Given the description of an element on the screen output the (x, y) to click on. 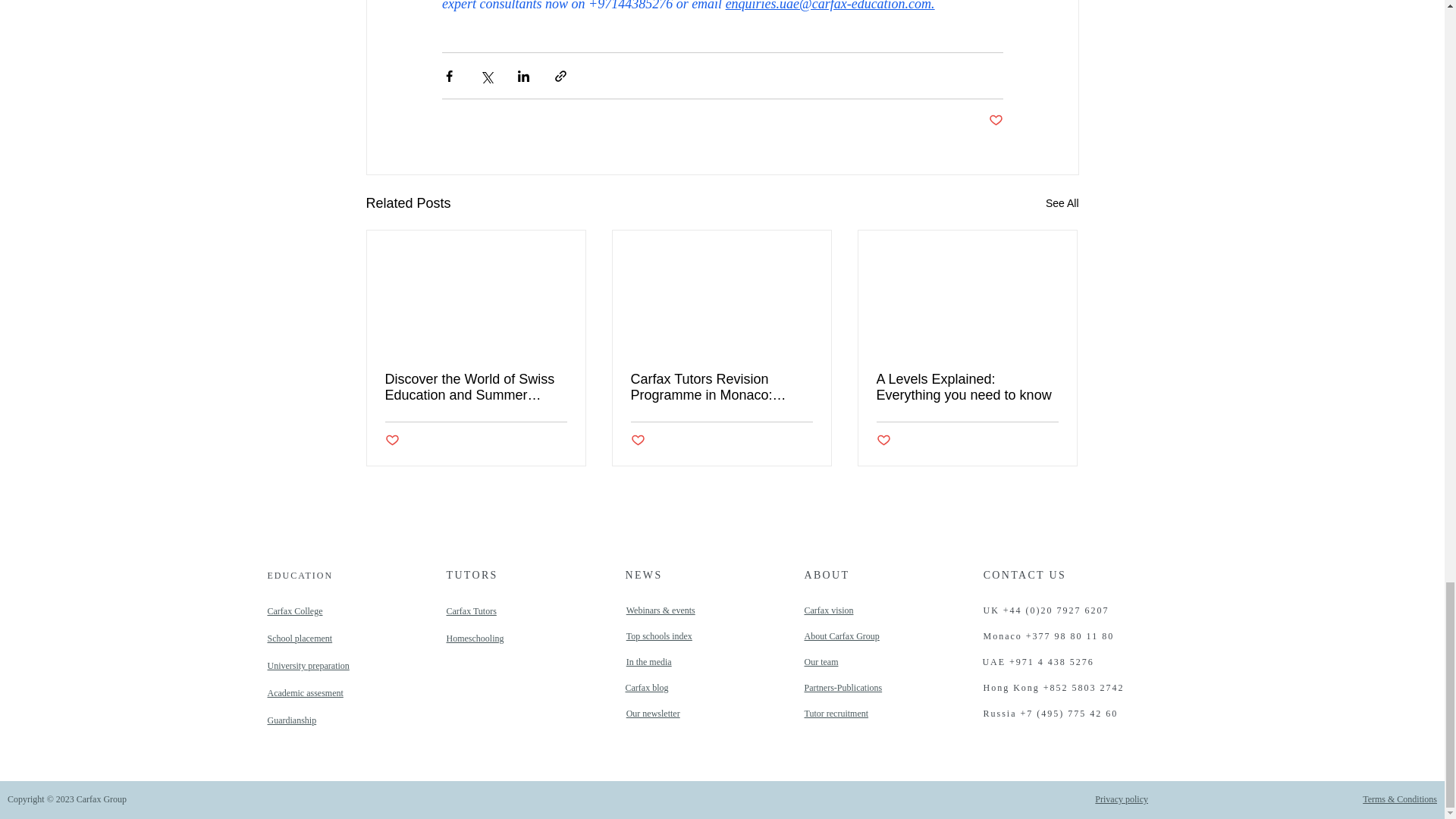
Carfax vision (828, 610)
See All (1061, 203)
Privacy policy (1121, 798)
A Levels Explained: Everything you need to know (967, 387)
Post not marked as liked (995, 120)
Post not marked as liked (883, 440)
Discover the World of Swiss Education and Summer Camps (476, 387)
Post not marked as liked (637, 440)
Post not marked as liked (391, 440)
